Given the description of an element on the screen output the (x, y) to click on. 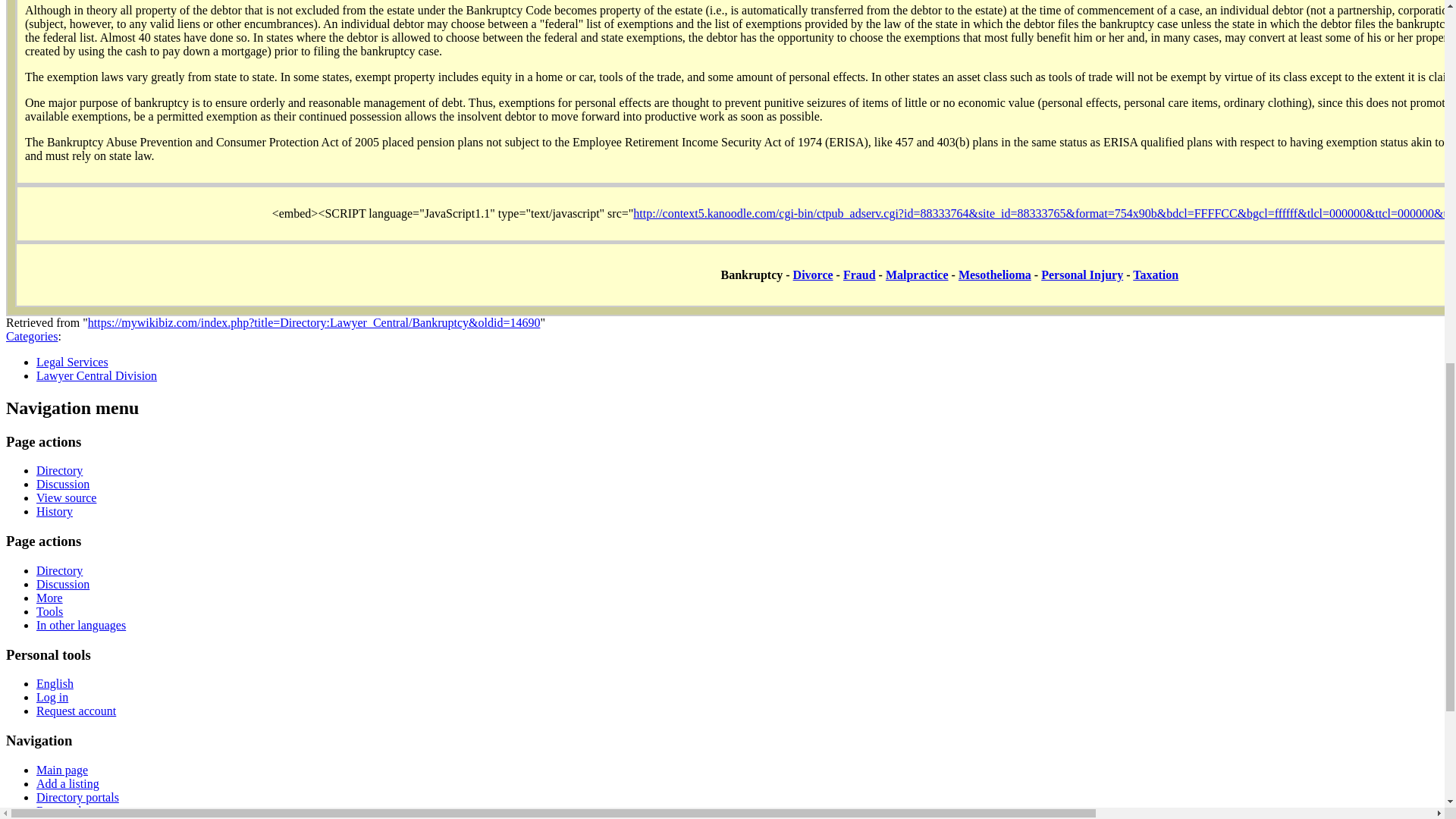
Log in (52, 697)
In other languages (80, 625)
Category:Legal Services (71, 361)
Request account (76, 710)
Fraud (859, 274)
English (55, 683)
Directory (59, 470)
Tools (49, 611)
View source (66, 497)
Categories (31, 336)
Divorce (812, 274)
Taxation (1154, 274)
History (54, 511)
Mesothelioma (994, 274)
Personal Injury (1081, 274)
